Given the description of an element on the screen output the (x, y) to click on. 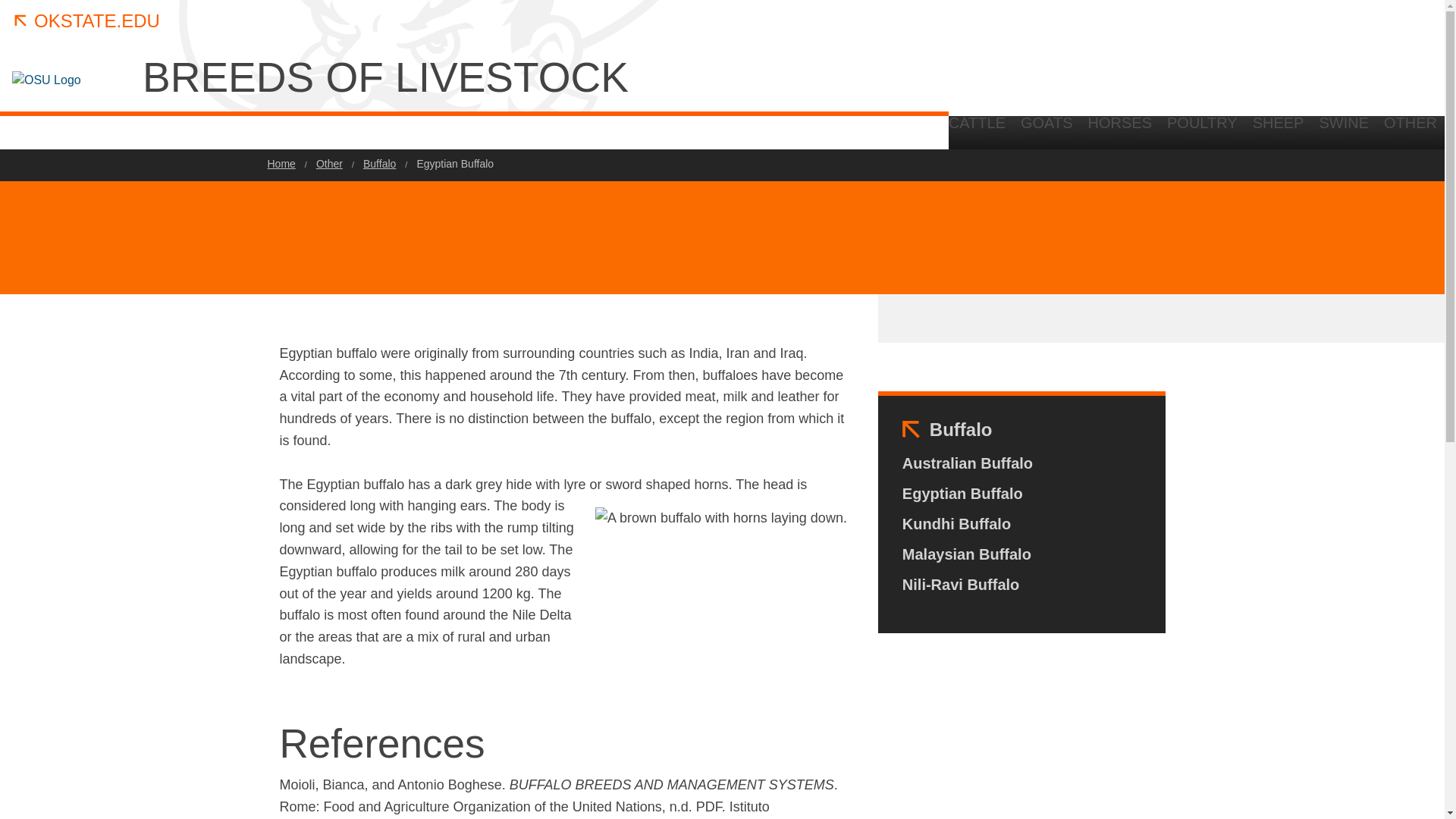
Buffalo (379, 163)
OKSTATE.EDU (85, 21)
BREEDS OF LIVESTOCK (521, 77)
Nili-Ravi Buffalo (960, 584)
Buffalo (961, 429)
POULTRY (1201, 128)
HORSES (1119, 128)
Department of Animal and Food Sciences (1251, 131)
Kundhi Buffalo (956, 523)
SHEEP (1277, 128)
